Given the description of an element on the screen output the (x, y) to click on. 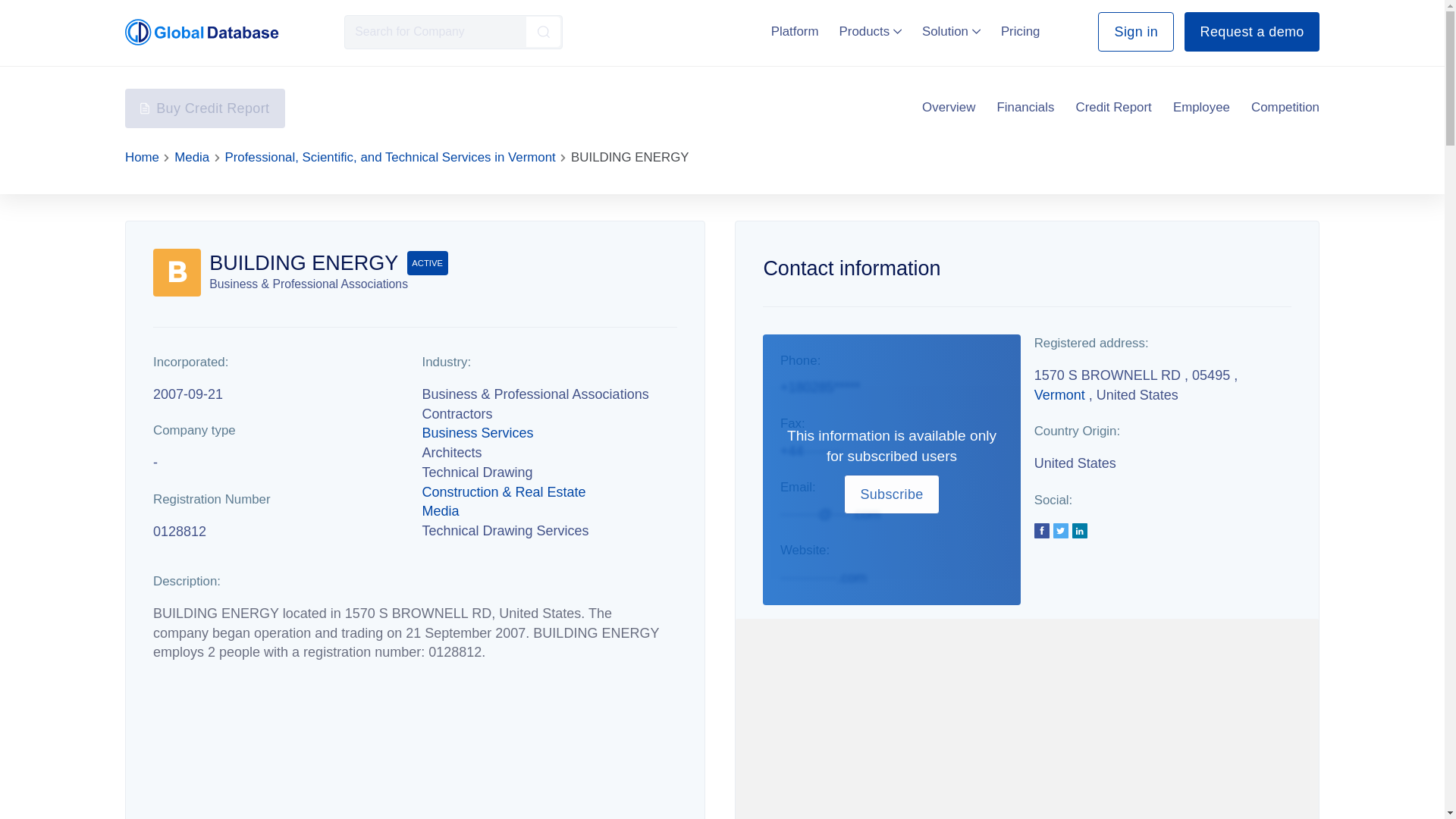
Sign in (1135, 31)
Platform (794, 31)
Request a demo (1252, 31)
Competition (1284, 107)
Pricing (1021, 31)
Credit Report (1113, 107)
Financials (1024, 107)
Employee (1201, 107)
Overview (948, 107)
Buy Credit Report (205, 107)
